Given the description of an element on the screen output the (x, y) to click on. 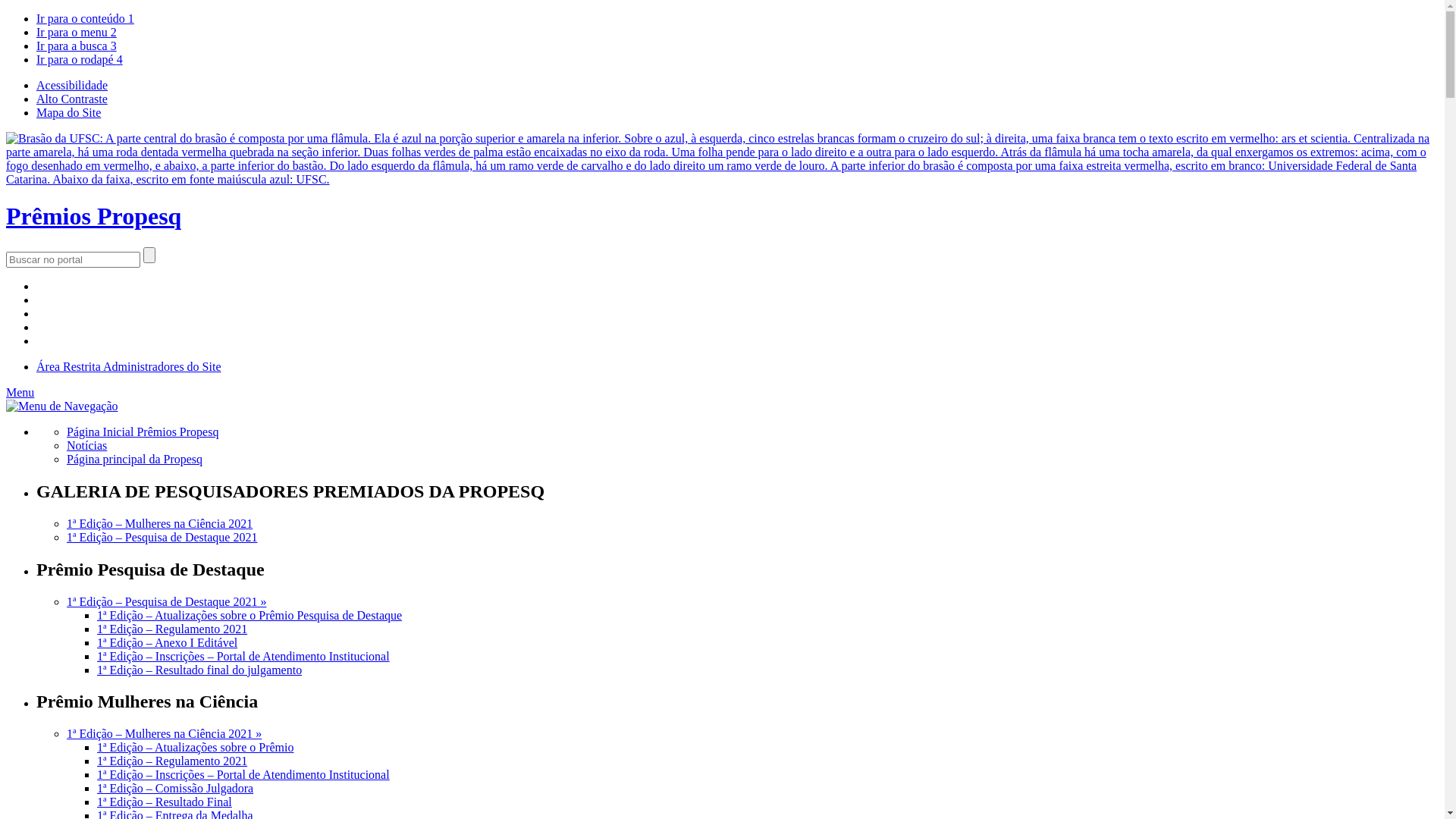
Ir para o menu 2 Element type: text (76, 31)
Mapa do Site Element type: text (68, 112)
Menu Element type: text (20, 391)
Acessibilidade Element type: text (71, 84)
Alto Contraste Element type: text (71, 98)
Ir para a busca 3 Element type: text (76, 45)
Administradores do Site Element type: text (162, 366)
